Given the description of an element on the screen output the (x, y) to click on. 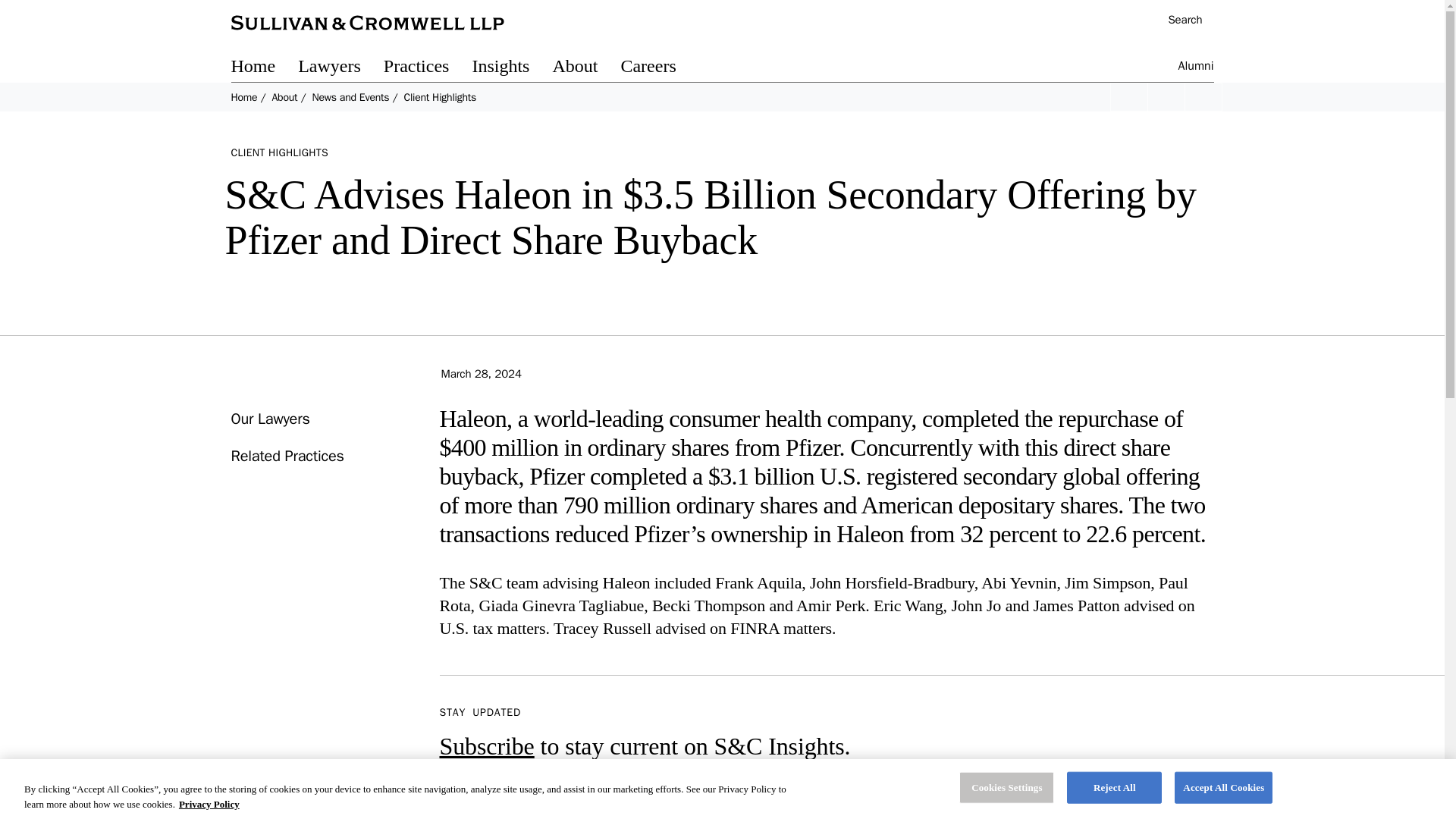
Practices (427, 67)
Home (264, 67)
Insights (511, 67)
Our Lawyers (269, 418)
Careers (659, 67)
News and Events (349, 97)
Alumni (1195, 67)
Home (243, 97)
Lawyers (341, 67)
About (283, 97)
Search (1176, 20)
About (585, 67)
Related Practices (286, 456)
Subscribe (486, 746)
